Given the description of an element on the screen output the (x, y) to click on. 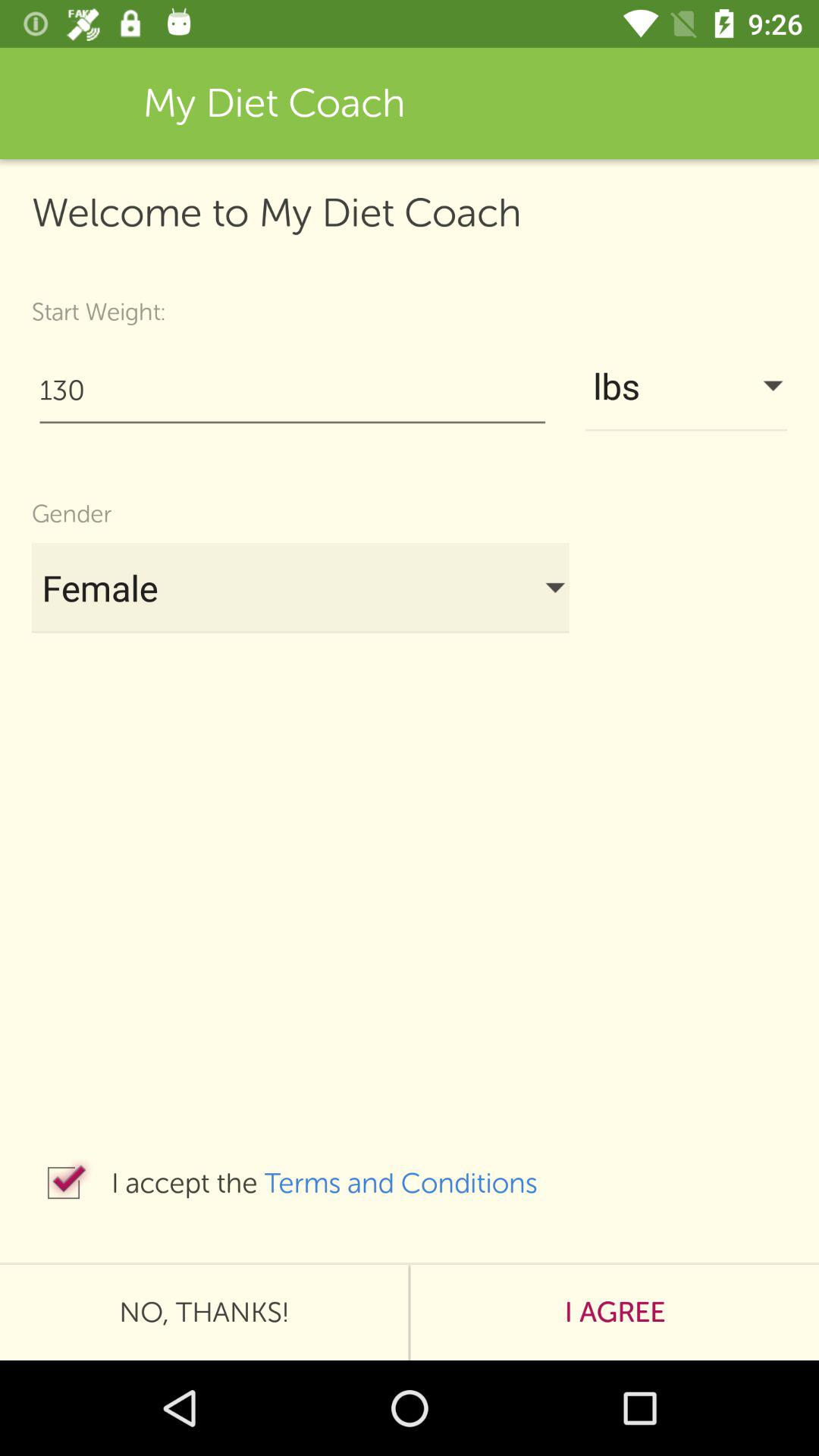
choose the icon next to i accept the  icon (63, 1182)
